Given the description of an element on the screen output the (x, y) to click on. 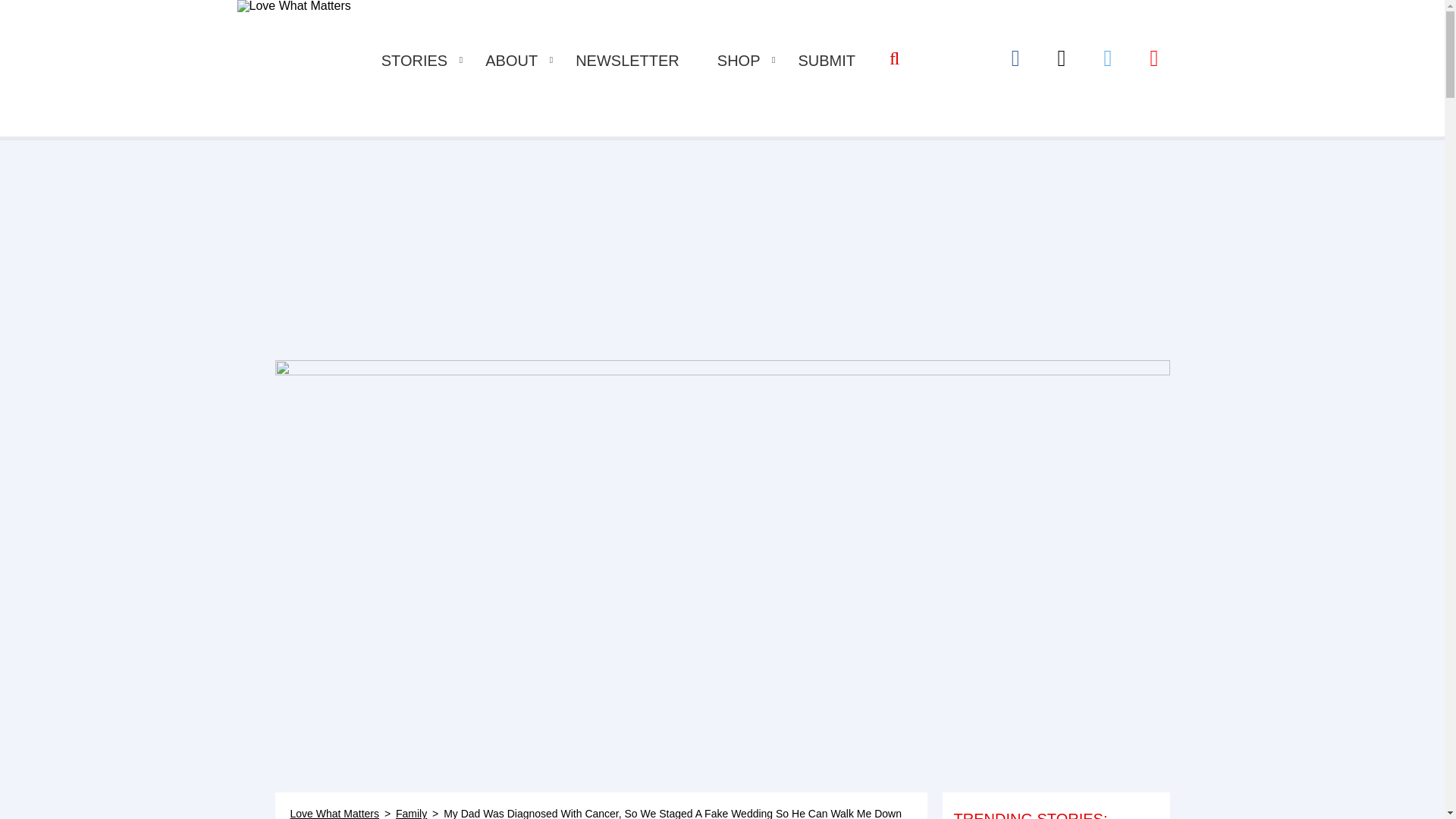
STORIES (414, 60)
NEWSLETTER (627, 60)
SHOP (738, 60)
ABOUT (511, 60)
SUBMIT (826, 60)
